Given the description of an element on the screen output the (x, y) to click on. 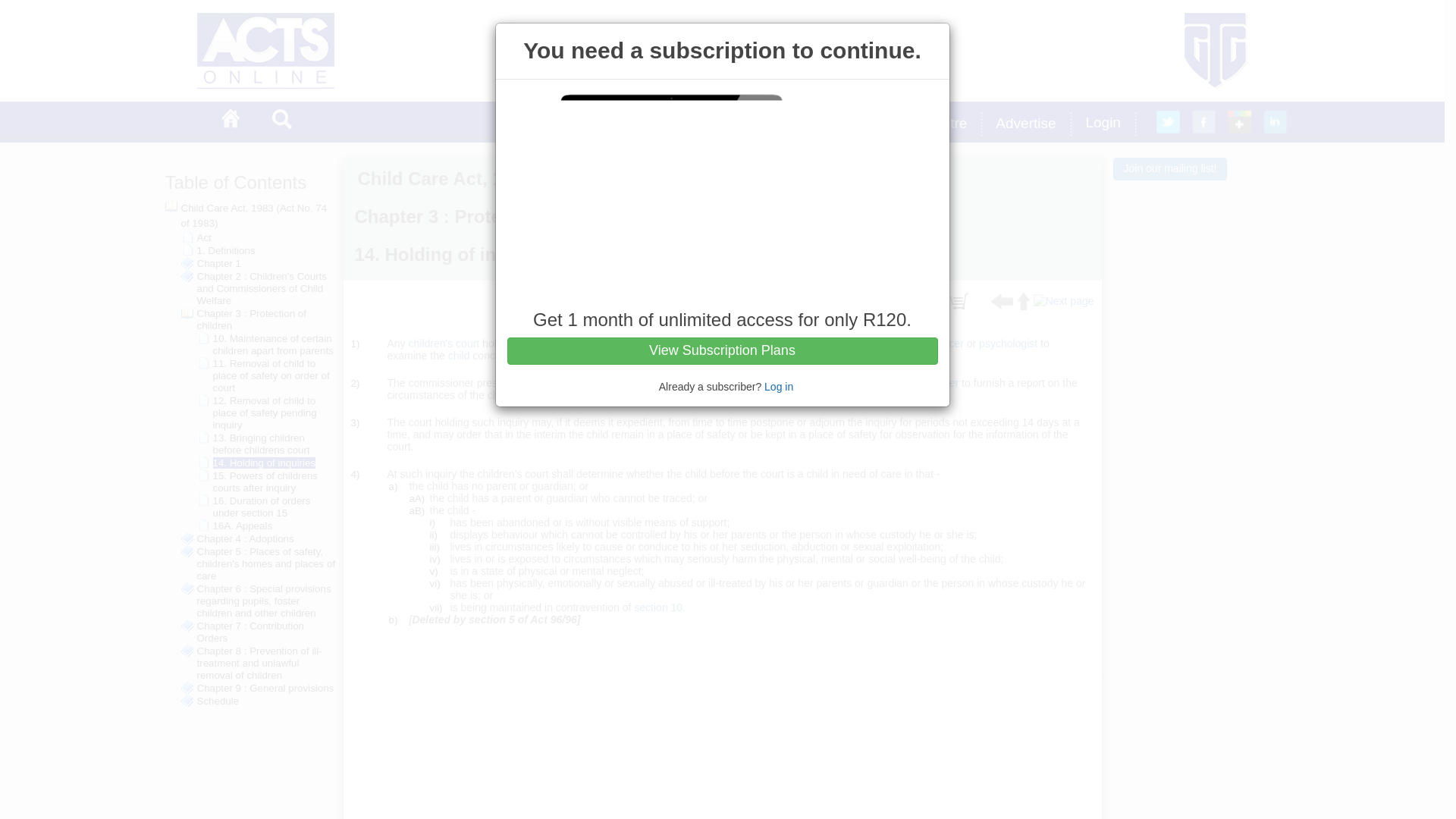
Search (286, 119)
1. Definitions (226, 250)
News Centre (929, 123)
Home (235, 119)
Login (1105, 124)
Advertise (1028, 123)
Chapter 1 (218, 263)
Act (203, 237)
Why Acts (733, 123)
Acts Store (824, 123)
Find an Act (638, 123)
